Given the description of an element on the screen output the (x, y) to click on. 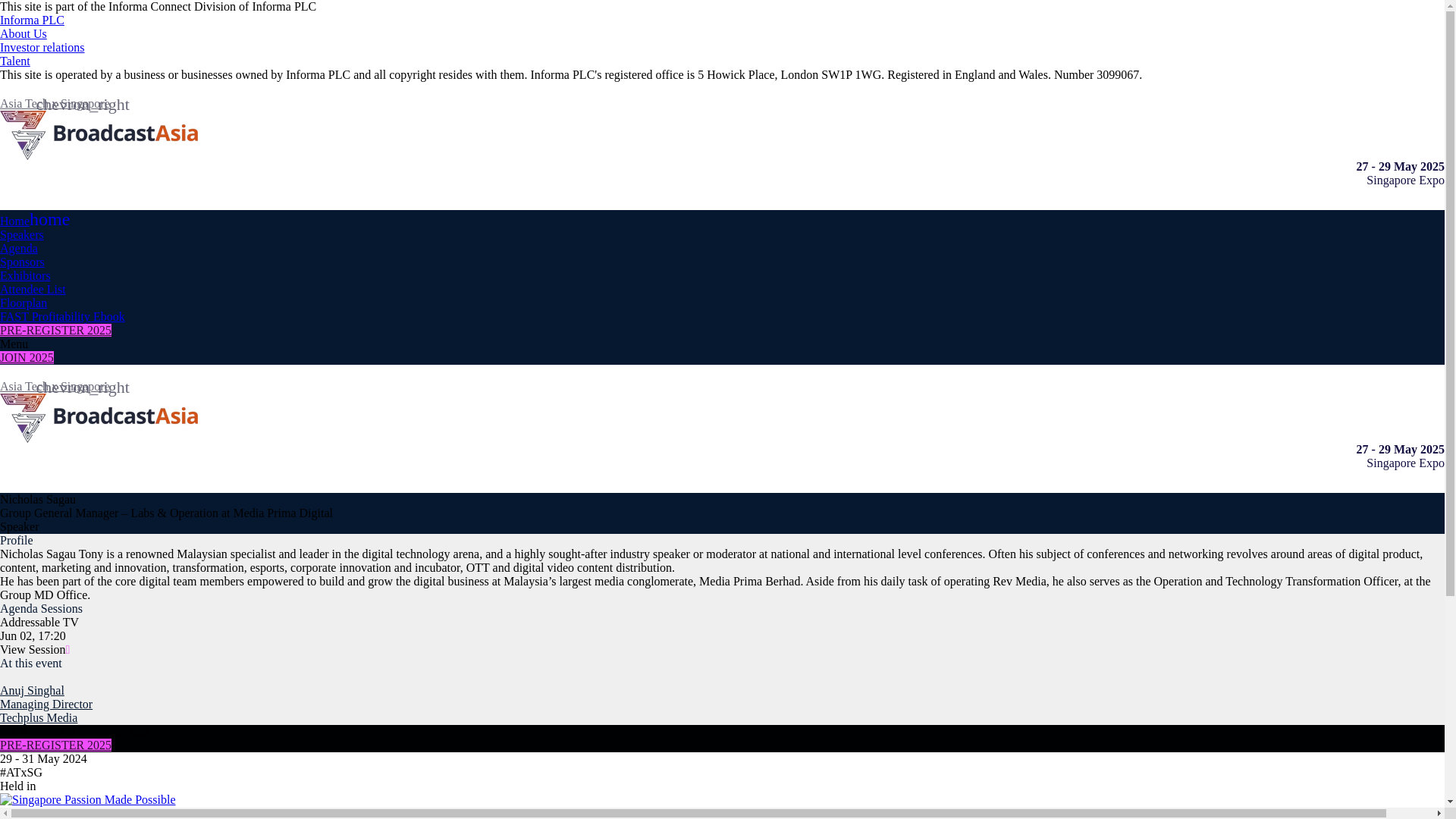
JOIN 2025 (26, 357)
Sponsors (22, 261)
About Us (23, 33)
Floorplan (23, 302)
Asia Tech x Singapore (55, 386)
Asia Tech x Singapore (55, 103)
Exhibitors (25, 275)
FAST Profitability Ebook (62, 316)
Speakers (21, 234)
Talent (15, 60)
